Given the description of an element on the screen output the (x, y) to click on. 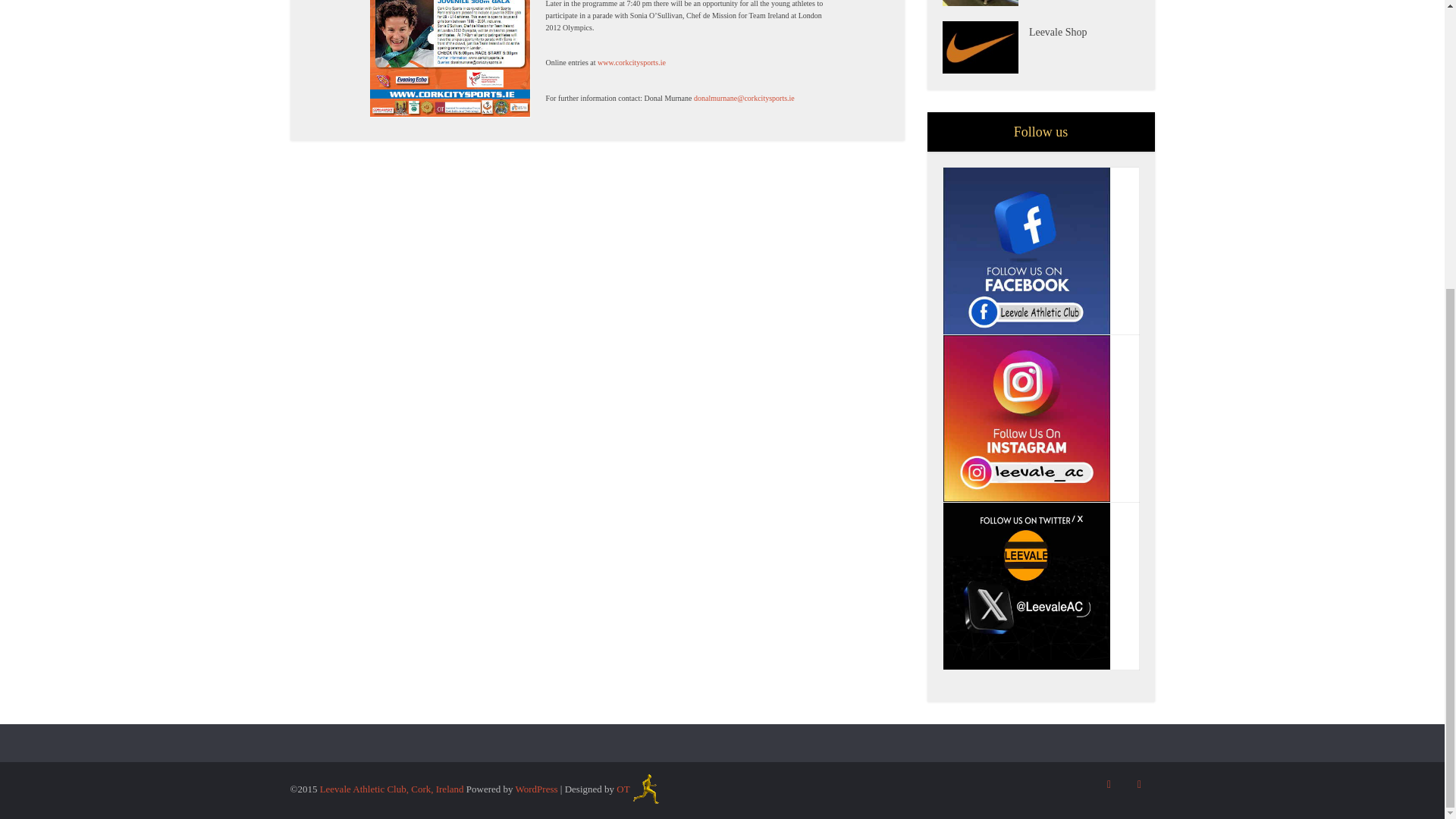
Leevale Shop (1084, 30)
High-Performance Centre Fob (984, 2)
300 Gala picture (450, 58)
Wordpress CMS (536, 788)
Leevale Shop (984, 47)
